Given the description of an element on the screen output the (x, y) to click on. 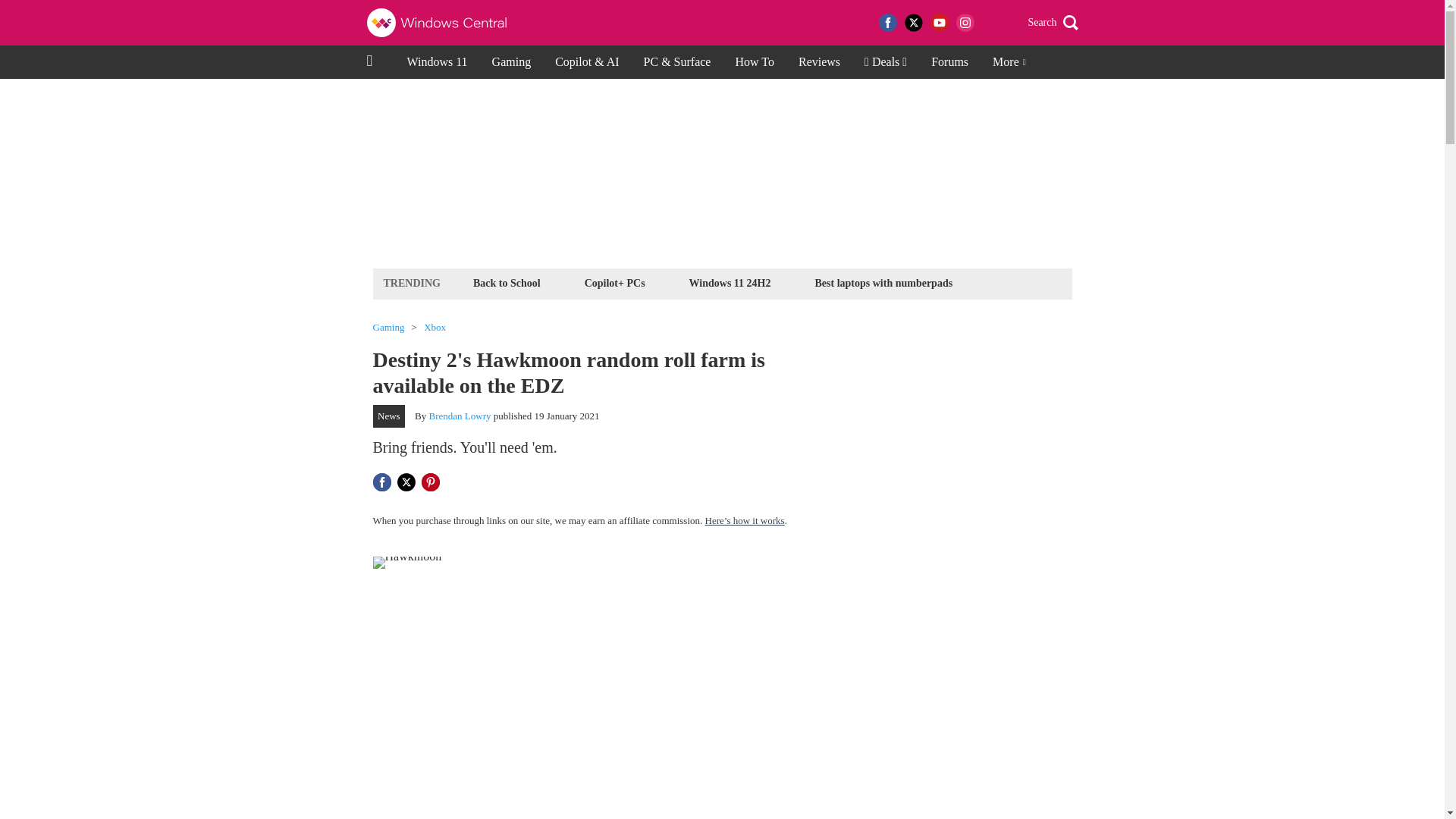
How To (754, 61)
Windows 11 (436, 61)
Back to School (506, 282)
Gaming (388, 327)
News (389, 415)
Forums (948, 61)
Best laptops with numberpads (883, 282)
RSS (990, 22)
Reviews (818, 61)
Brendan Lowry (460, 415)
